Given the description of an element on the screen output the (x, y) to click on. 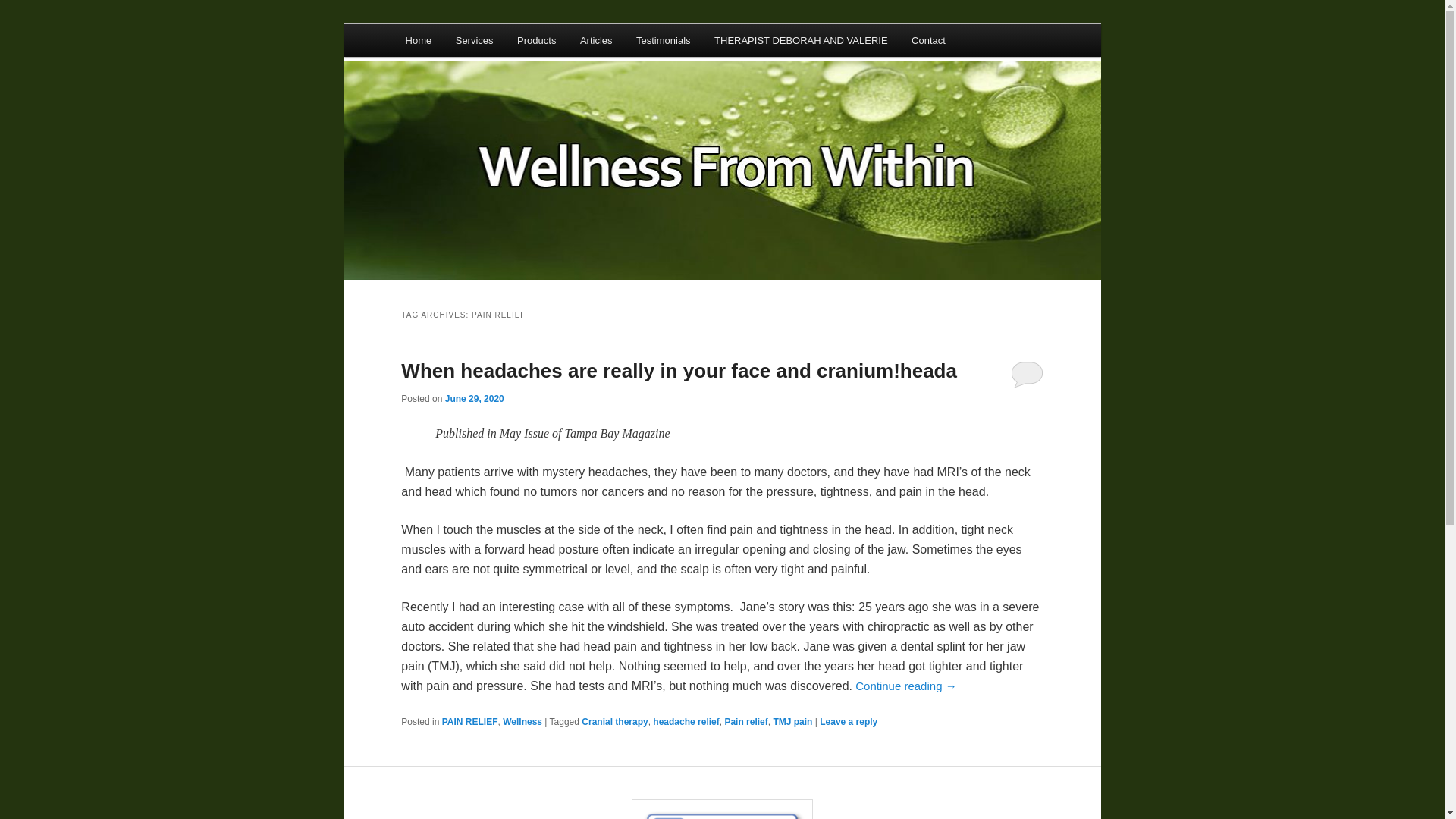
Products (536, 40)
TMJ pain (792, 721)
Testimonials (662, 40)
PAIN RELIEF (469, 721)
Home (418, 40)
2:08 am (474, 398)
Services (474, 40)
Leave a reply (848, 721)
Wellness (521, 721)
